Given the description of an element on the screen output the (x, y) to click on. 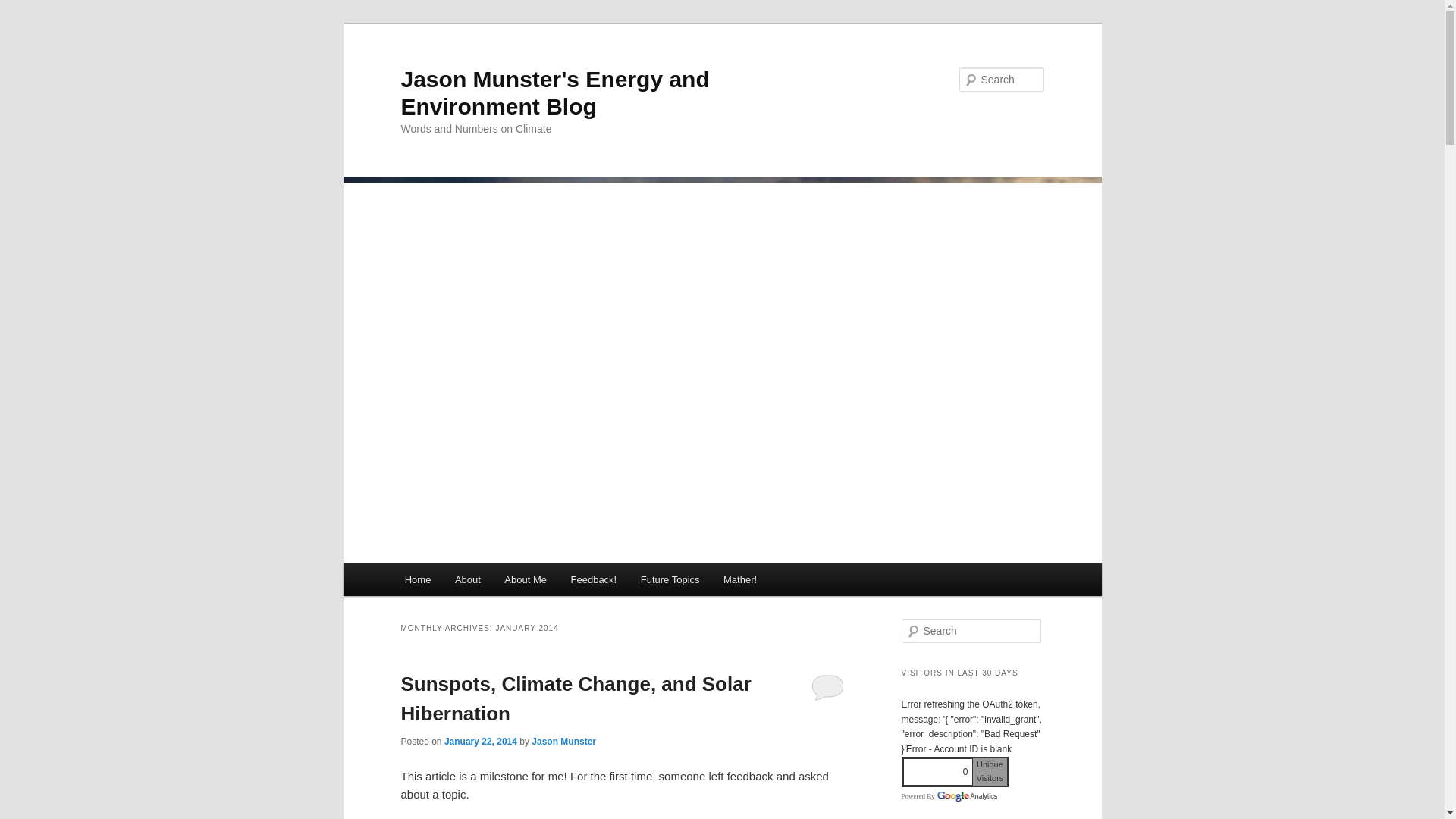
Jason Munster's Energy and Environment Blog (554, 92)
Jason Munster (563, 741)
About Me (526, 579)
Skip to primary content (472, 582)
About (467, 579)
January 22, 2014 (480, 741)
Google Analyticator for Wordpress (966, 796)
View all posts by Jason Munster (563, 741)
Mather! (739, 579)
Skip to secondary content (479, 582)
4:03 pm (480, 741)
Jason Munster's Energy and Environment Blog (554, 92)
Search (24, 8)
Search (21, 11)
Feedback! (593, 579)
